Given the description of an element on the screen output the (x, y) to click on. 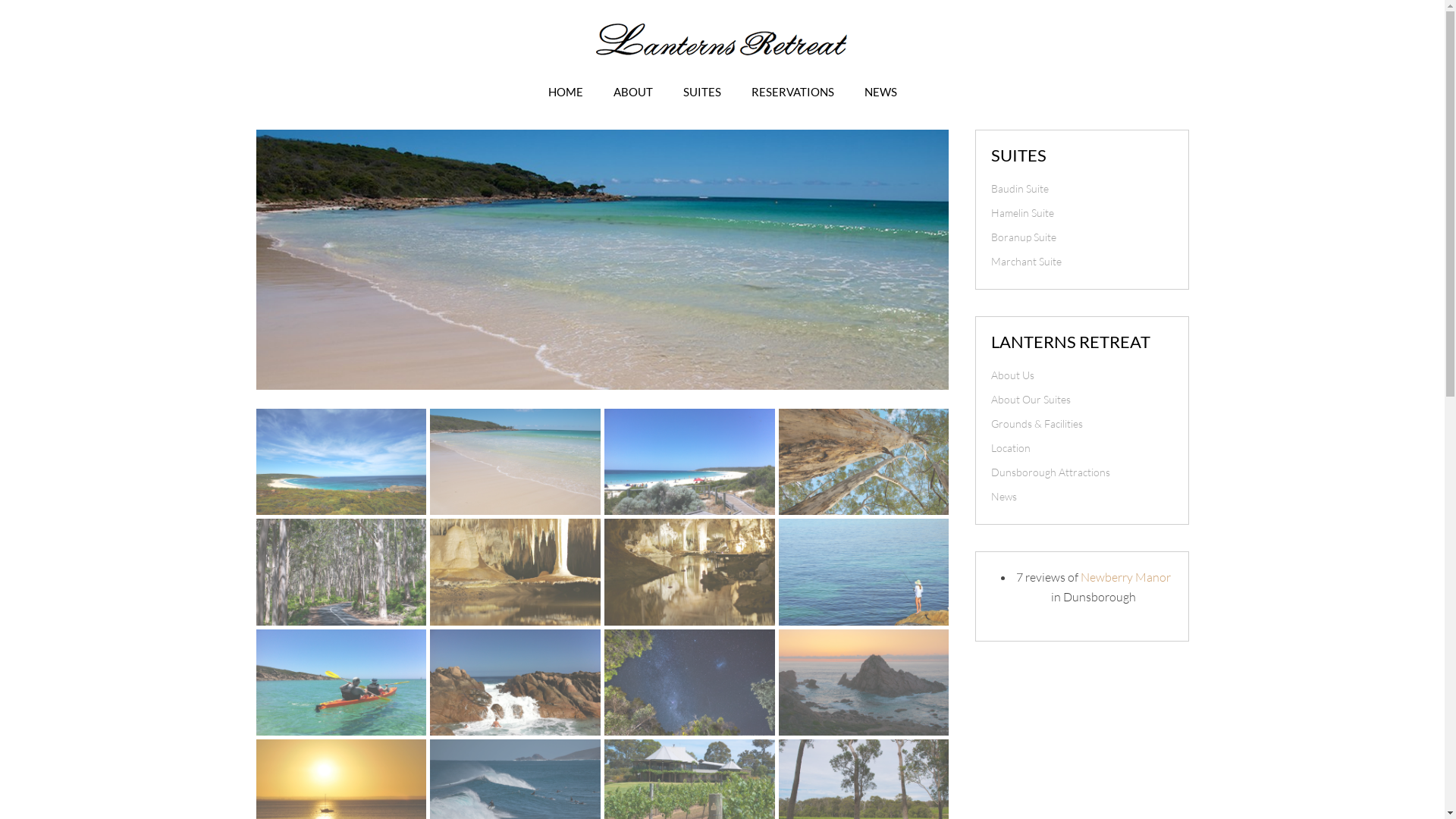
Boranup Suite Element type: text (1081, 237)
Room Element type: hover (341, 571)
ABOUT Element type: text (632, 91)
RESERVATIONS Element type: text (791, 91)
About Our Suites Element type: text (1081, 399)
Hamelin Suite Element type: text (1081, 212)
Room Element type: hover (514, 571)
Baudin Suite Element type: text (1081, 188)
News Element type: text (1081, 496)
Marchant Suite Element type: text (1081, 261)
Newberry Manor Element type: text (1125, 576)
Grounds & Facilities Element type: text (1081, 423)
Dunsborough Element type: hover (863, 461)
Dunsborough Element type: hover (341, 461)
SUITES Element type: text (701, 91)
Location Element type: text (1081, 448)
NEWS Element type: text (880, 91)
HOME Element type: text (564, 91)
Room Element type: hover (689, 571)
About Us Element type: text (1081, 375)
Room Element type: hover (863, 571)
Dunsborough Attractions Element type: text (1081, 472)
Dunsborough Element type: hover (689, 461)
Dunsborough Element type: hover (514, 461)
